Given the description of an element on the screen output the (x, y) to click on. 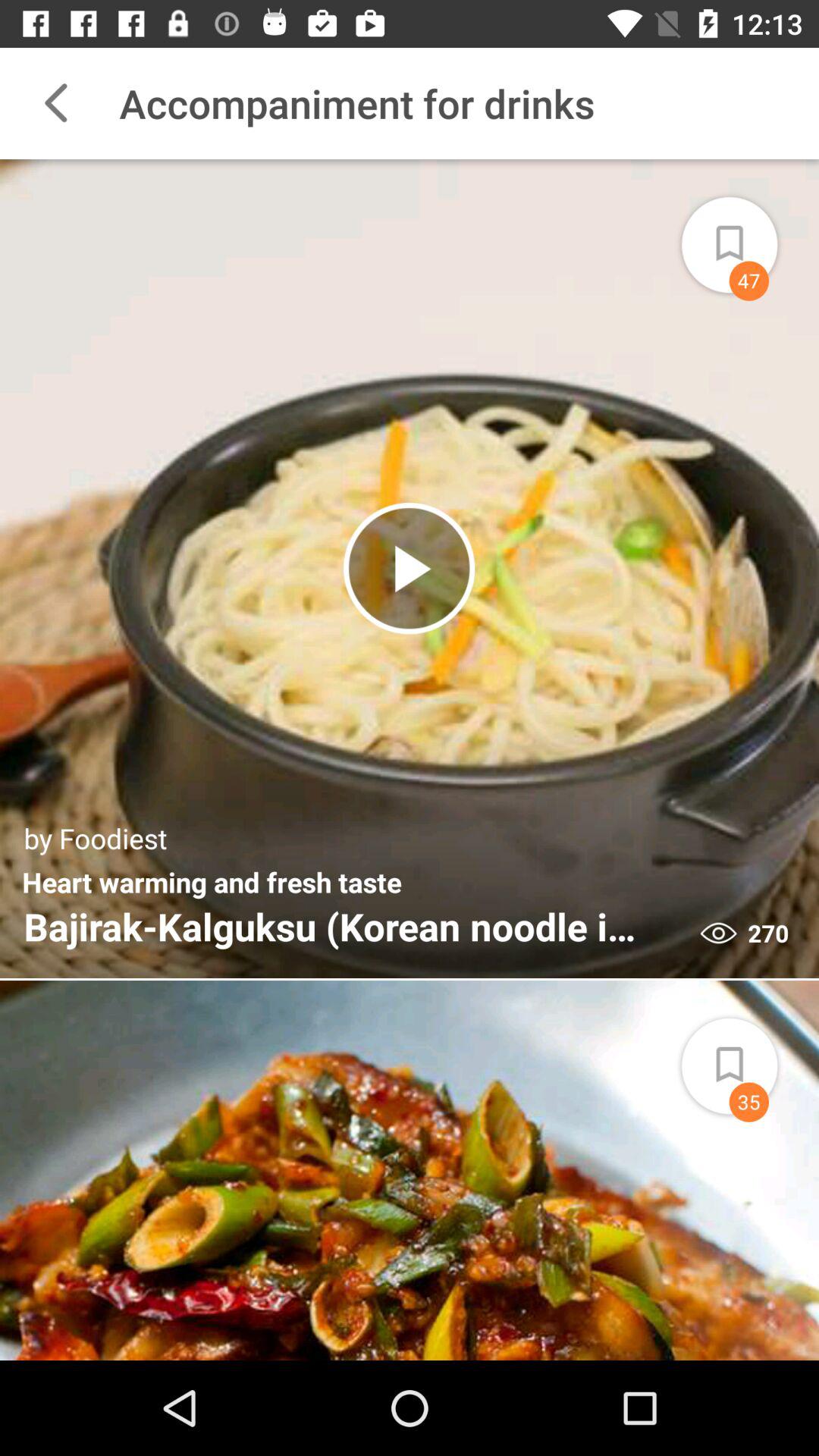
share the receipe (747, 235)
